Given the description of an element on the screen output the (x, y) to click on. 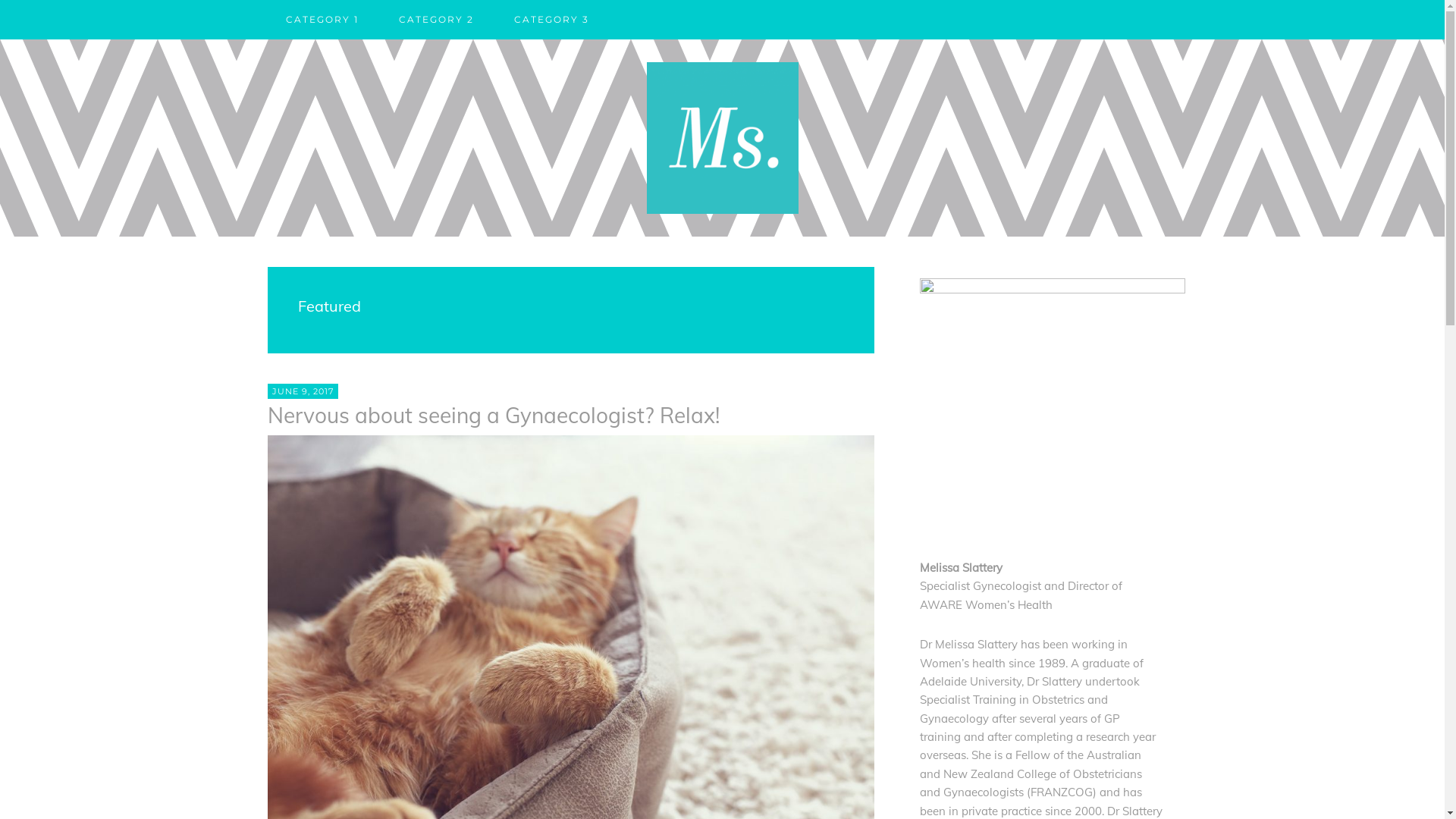
CATEGORY 2 Element type: text (436, 19)
CATEGORY 3 Element type: text (551, 19)
Skip to primary navigation Element type: text (0, 39)
Melissa Slattery Element type: text (721, 137)
CATEGORY 1 Element type: text (321, 19)
Nervous about seeing a Gynaecologist? Relax! Element type: text (492, 414)
